Given the description of an element on the screen output the (x, y) to click on. 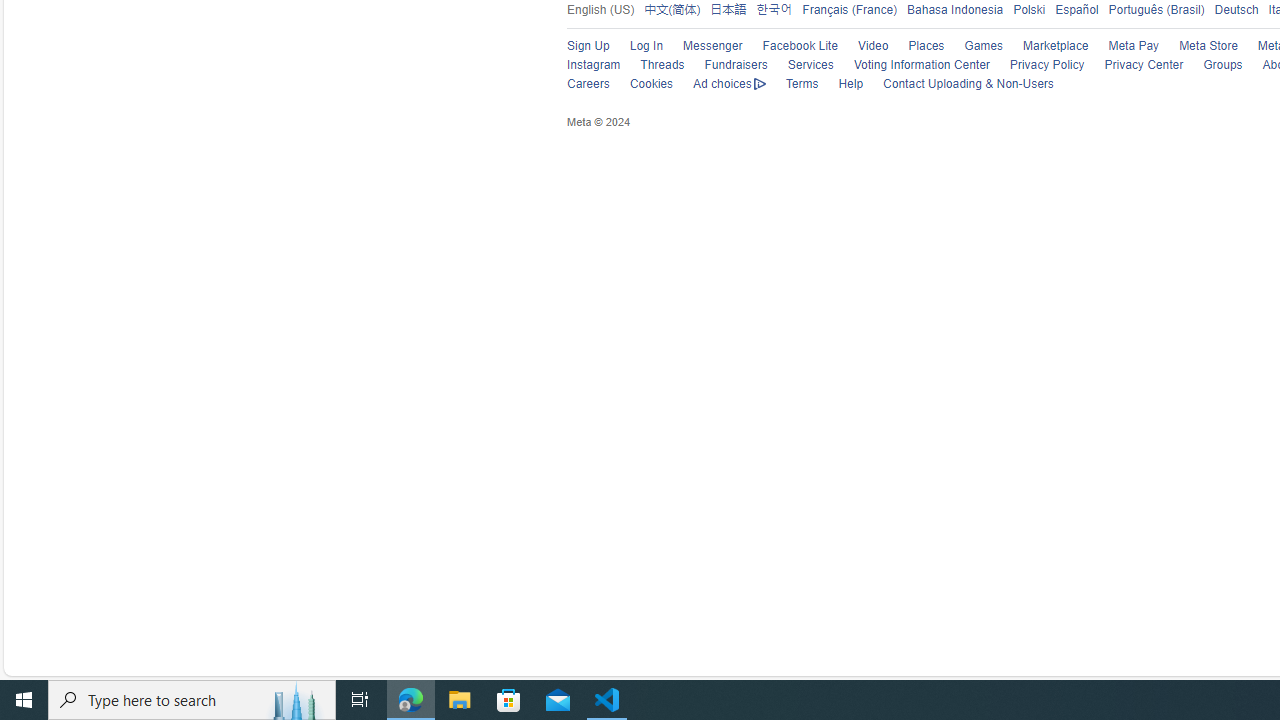
Careers (588, 84)
Log In (646, 45)
Deutsch (1236, 9)
Services (800, 66)
